Given the description of an element on the screen output the (x, y) to click on. 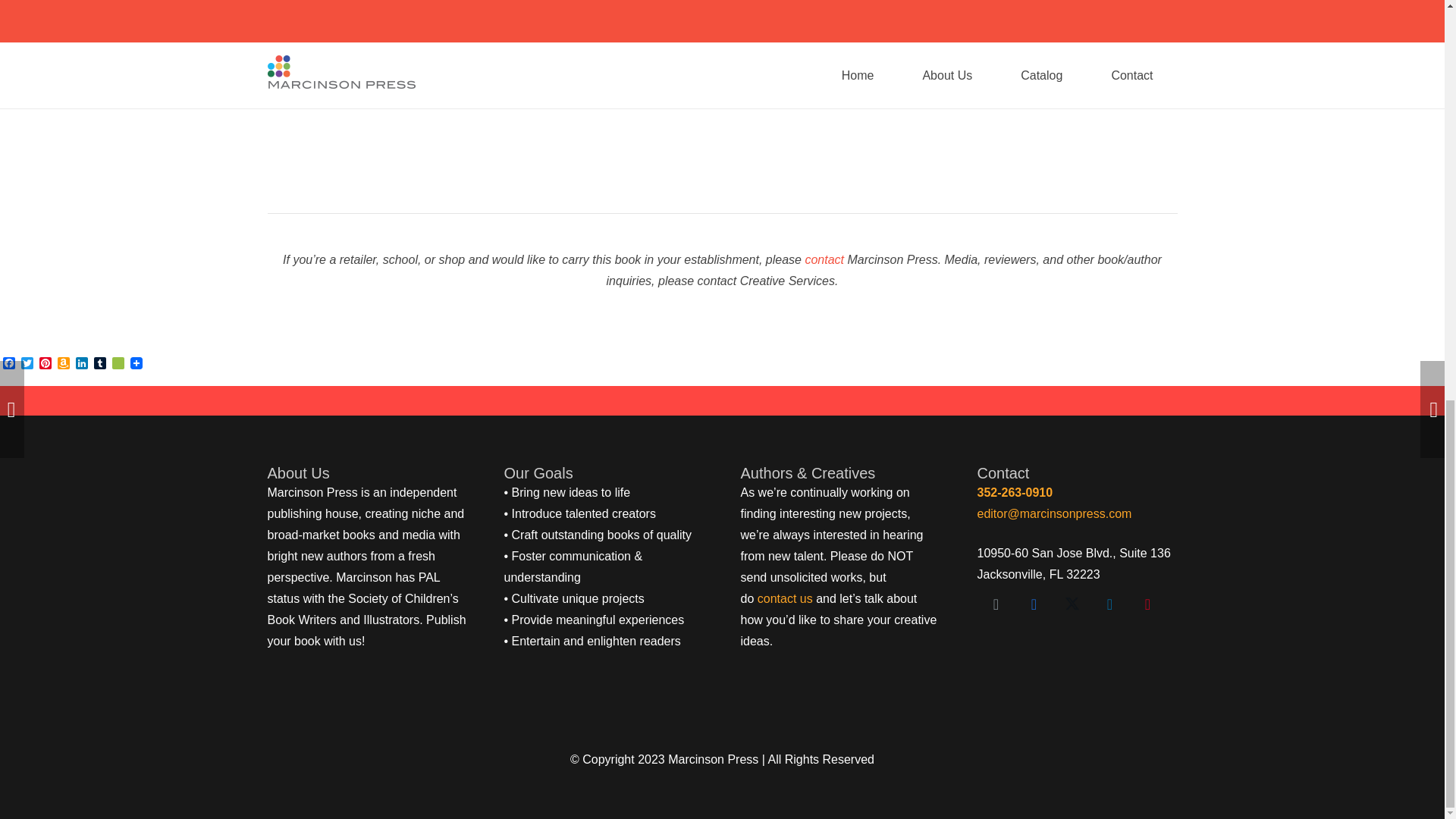
Pin this (684, 83)
Tumblr (99, 364)
Amazon Wish List (63, 364)
Tweet this (648, 83)
contact (824, 259)
Facebook (8, 364)
Bookmarks.fr (118, 364)
Twitter (26, 364)
Amazon Wish List (63, 364)
Pinterest (45, 364)
